Given the description of an element on the screen output the (x, y) to click on. 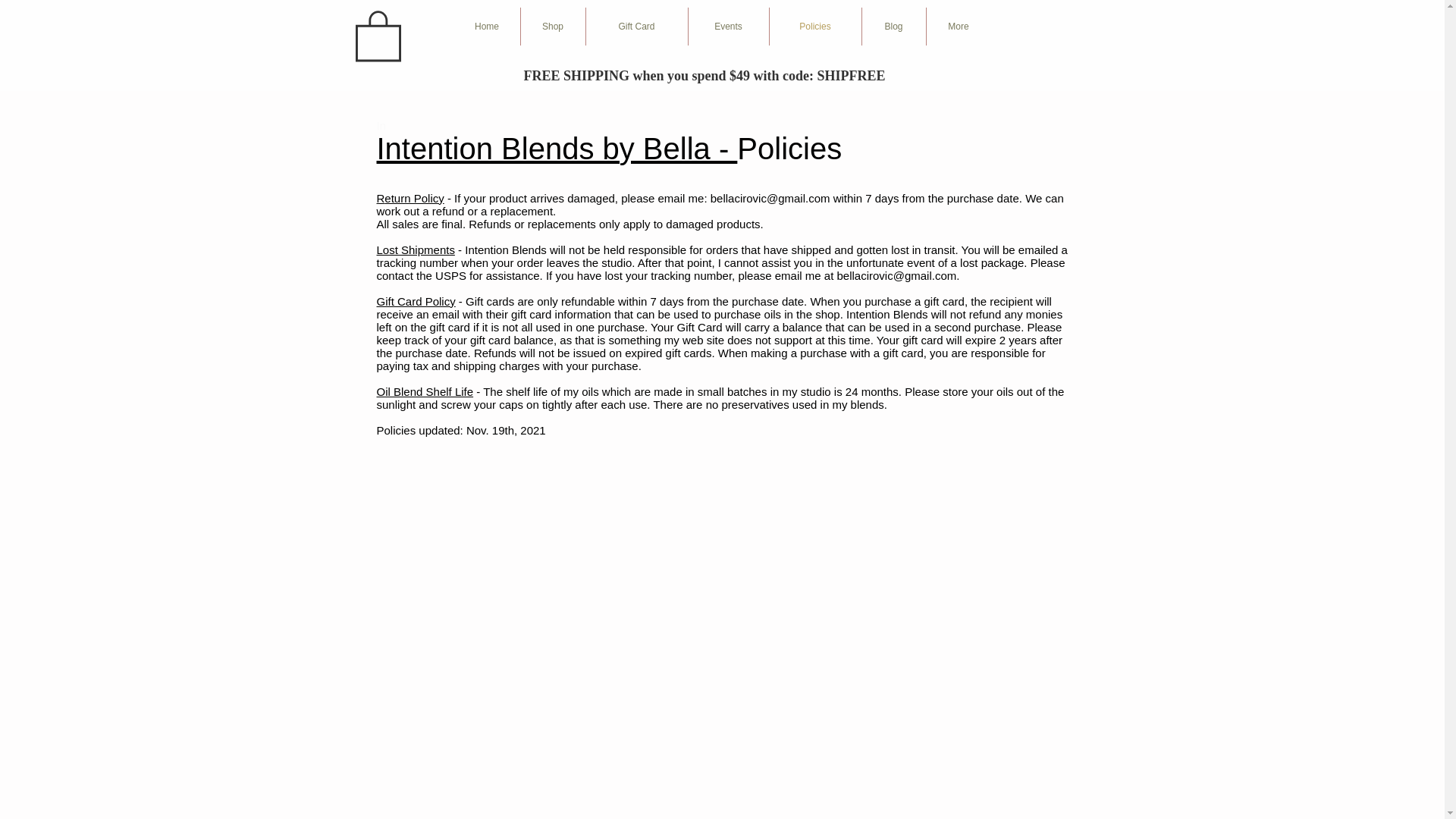
Policies (814, 26)
Gift Card (636, 26)
Home (485, 26)
Blog (892, 26)
Shop (552, 26)
Events (728, 26)
